Given the description of an element on the screen output the (x, y) to click on. 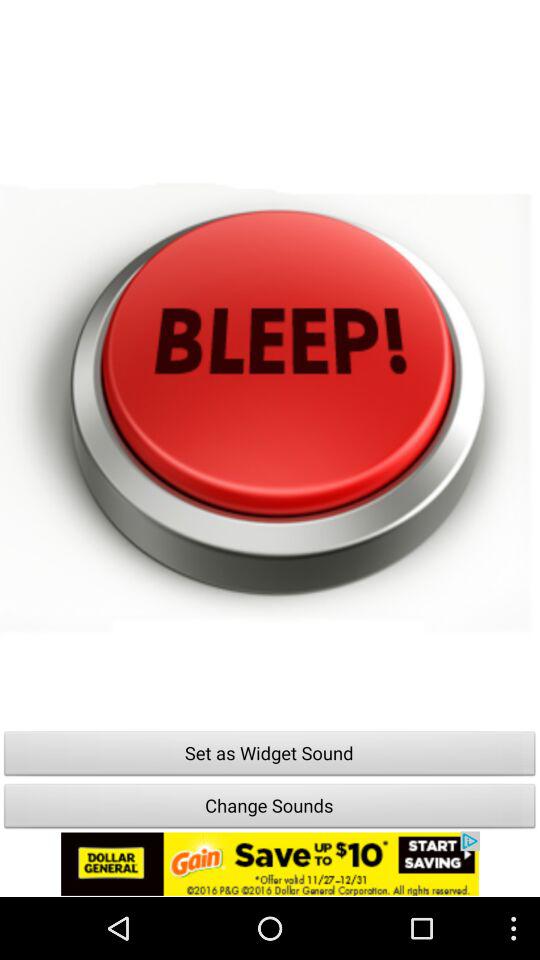
open advertisement (270, 864)
